Given the description of an element on the screen output the (x, y) to click on. 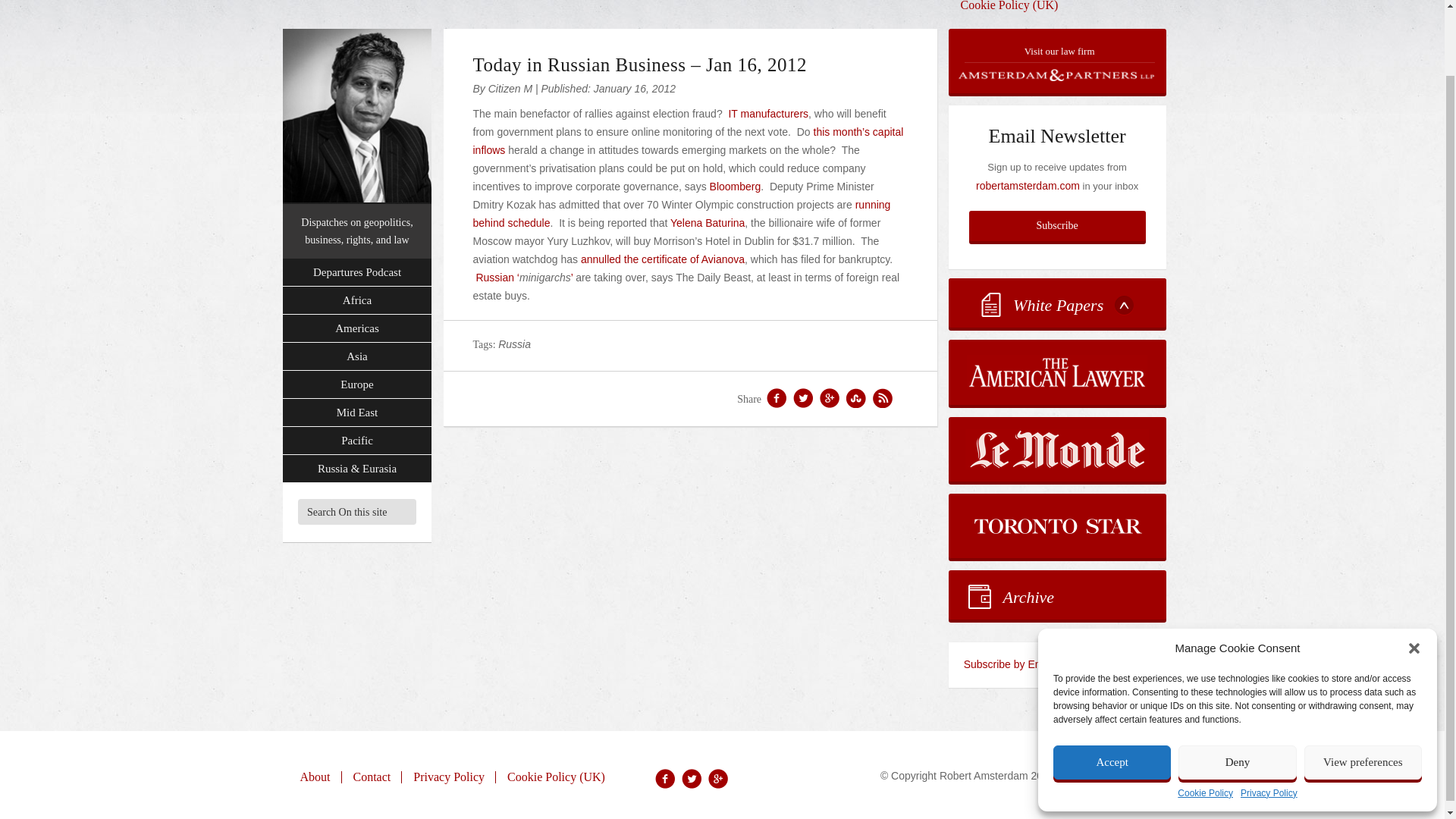
Mid East (356, 412)
Privacy Policy (1268, 720)
IT manufacturers (768, 113)
Deny (1236, 689)
View preferences (1363, 689)
Bloomberg (735, 186)
Asia (356, 357)
Departures Podcast (356, 272)
Europe (356, 384)
running behind schedule (682, 214)
